Given the description of an element on the screen output the (x, y) to click on. 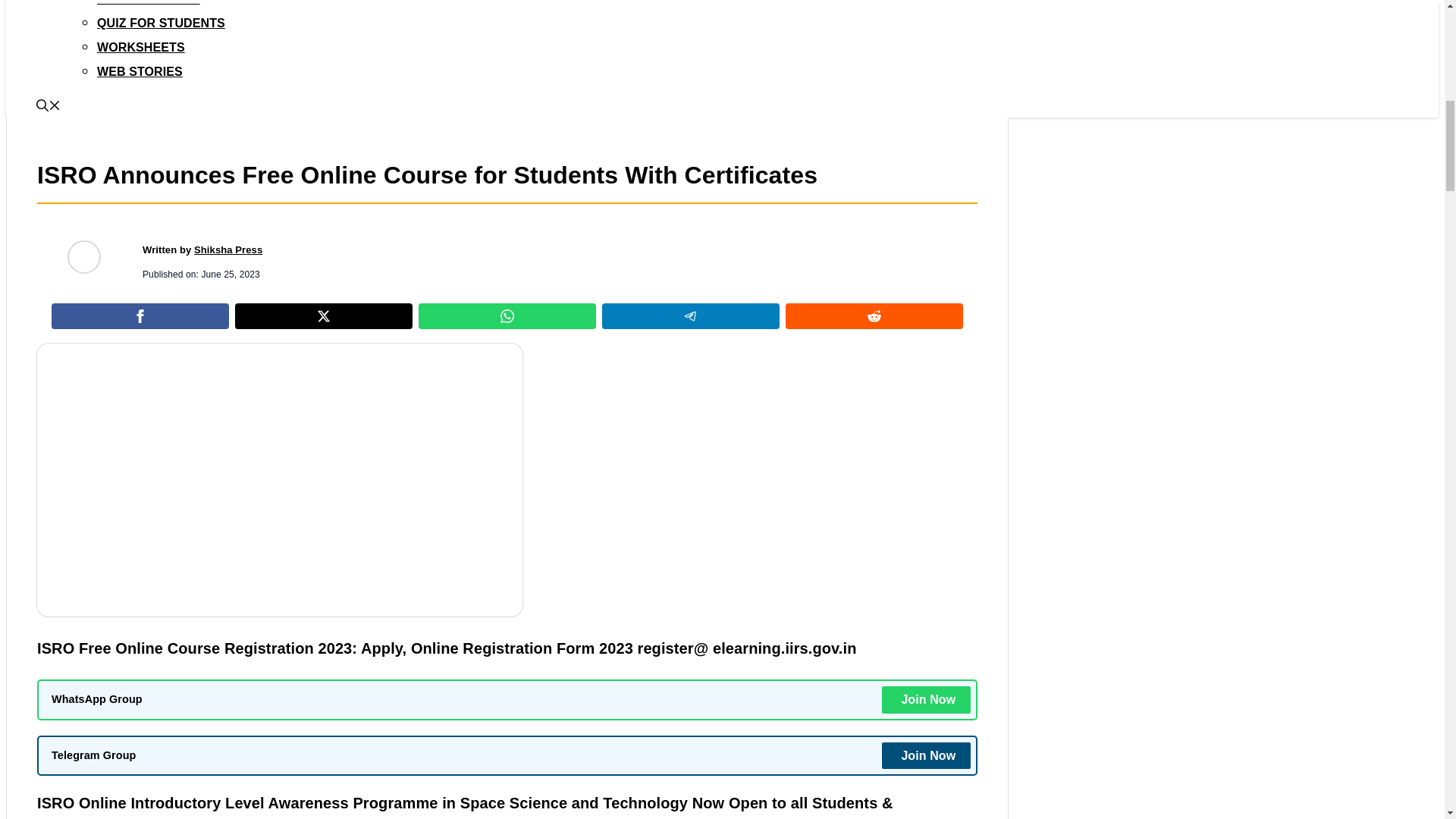
WORKSHEETS (140, 47)
Shiksha Press (227, 249)
NOTICE WRITING (148, 2)
WEB STORIES (140, 71)
QUIZ FOR STUDENTS (161, 22)
